Given the description of an element on the screen output the (x, y) to click on. 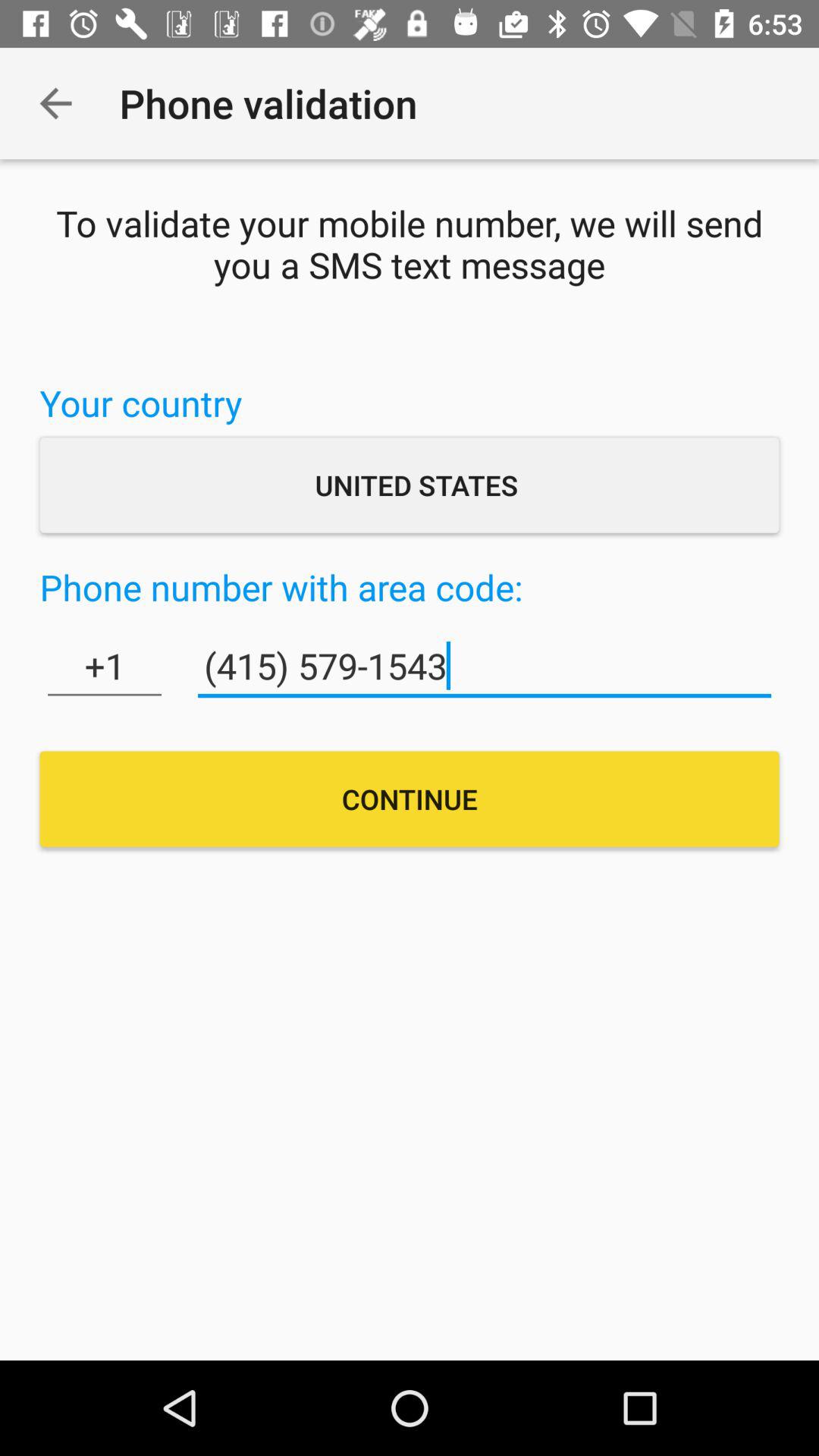
flip to (415) 579-1543 (484, 666)
